Given the description of an element on the screen output the (x, y) to click on. 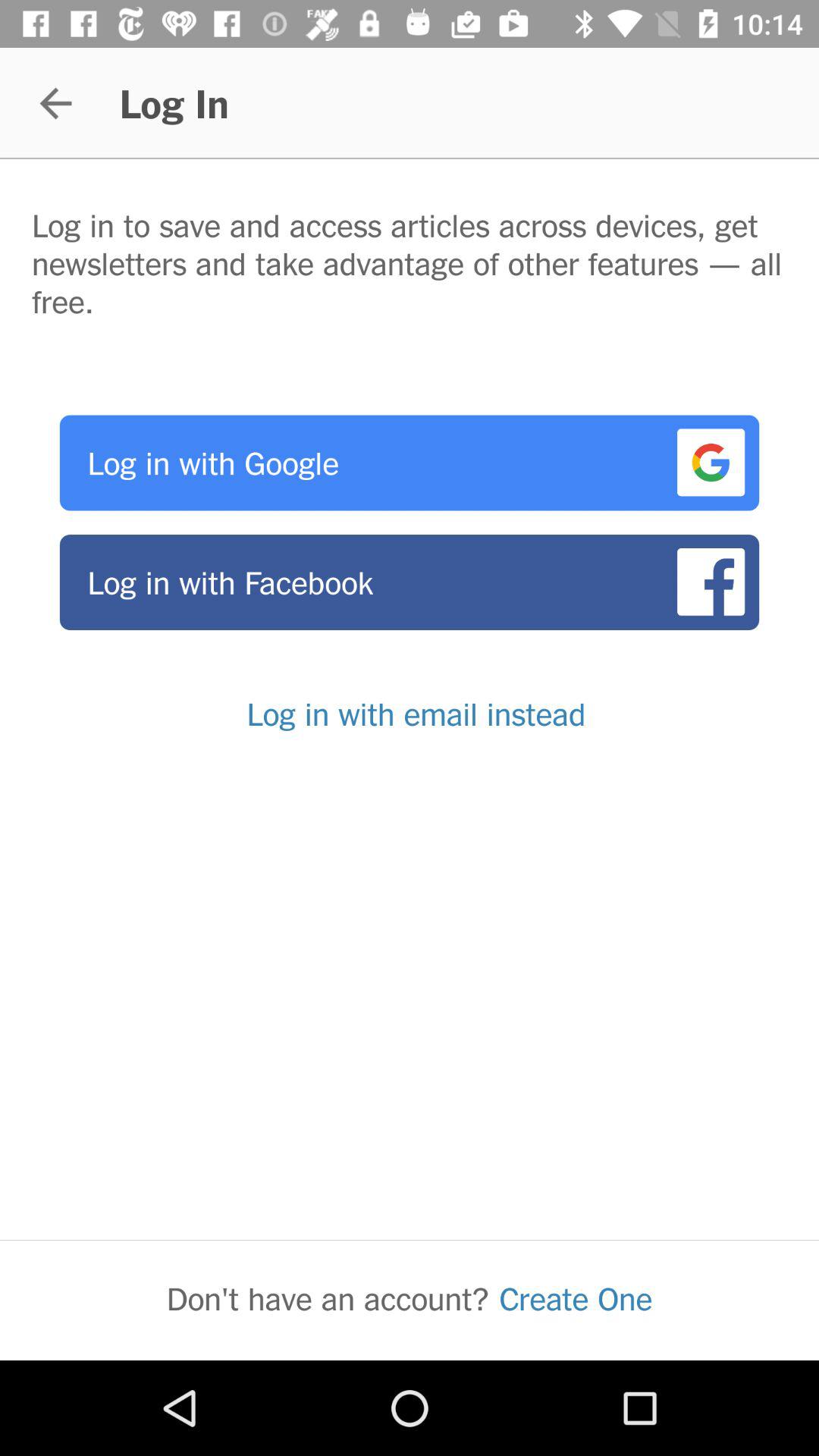
open the create one (575, 1298)
